Given the description of an element on the screen output the (x, y) to click on. 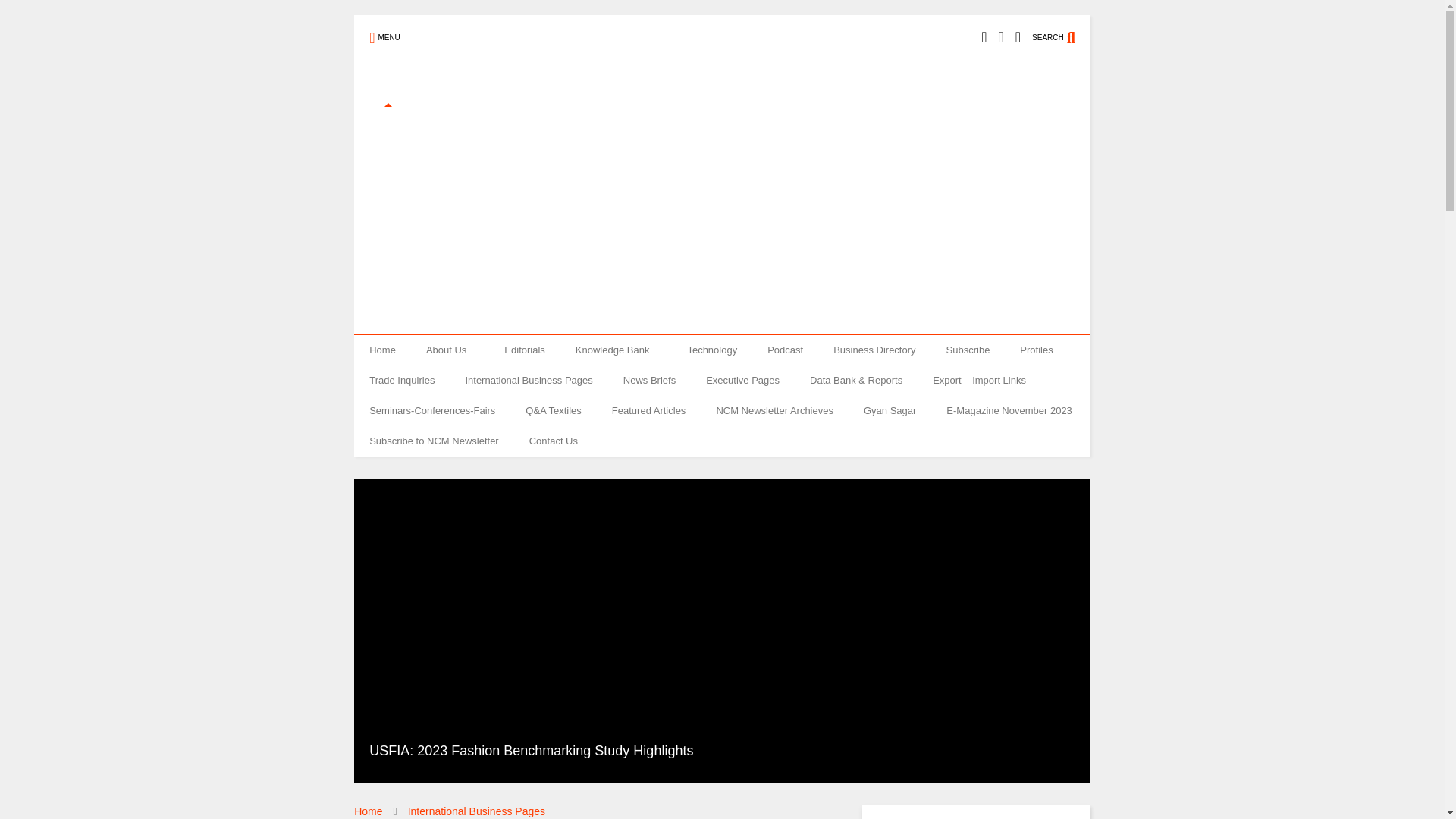
Home (381, 349)
E-Magazine November 2023 (1008, 410)
Seminars-Conferences-Fairs (432, 410)
Profiles (1035, 349)
News Briefs (649, 380)
Executive Pages (742, 380)
Gyan Sagar (889, 410)
Trade Inquiries (401, 380)
USFIA: 2023 Fashion Benchmarking Study Highlights (531, 750)
New Cloth Market (574, 94)
